Given the description of an element on the screen output the (x, y) to click on. 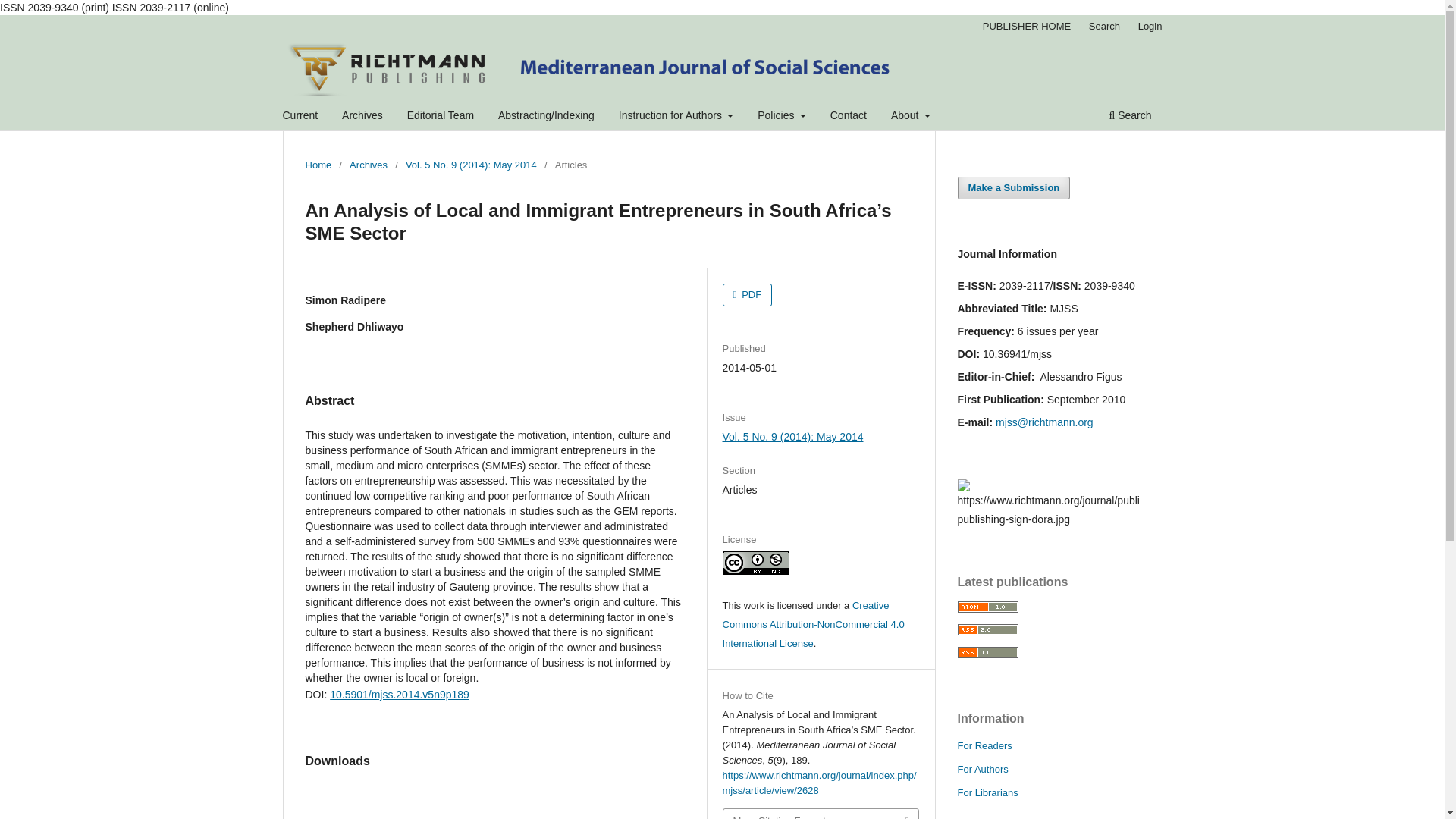
PUBLISHER HOME (1026, 26)
Archives (368, 165)
About (910, 117)
More Citation Formats (820, 814)
Current (300, 117)
Home (317, 165)
Policies (781, 117)
Contact (848, 117)
Login (1150, 26)
Instruction for Authors (675, 117)
PDF (747, 294)
Editorial Team (440, 117)
Search (1103, 26)
Archives (362, 117)
